Given the description of an element on the screen output the (x, y) to click on. 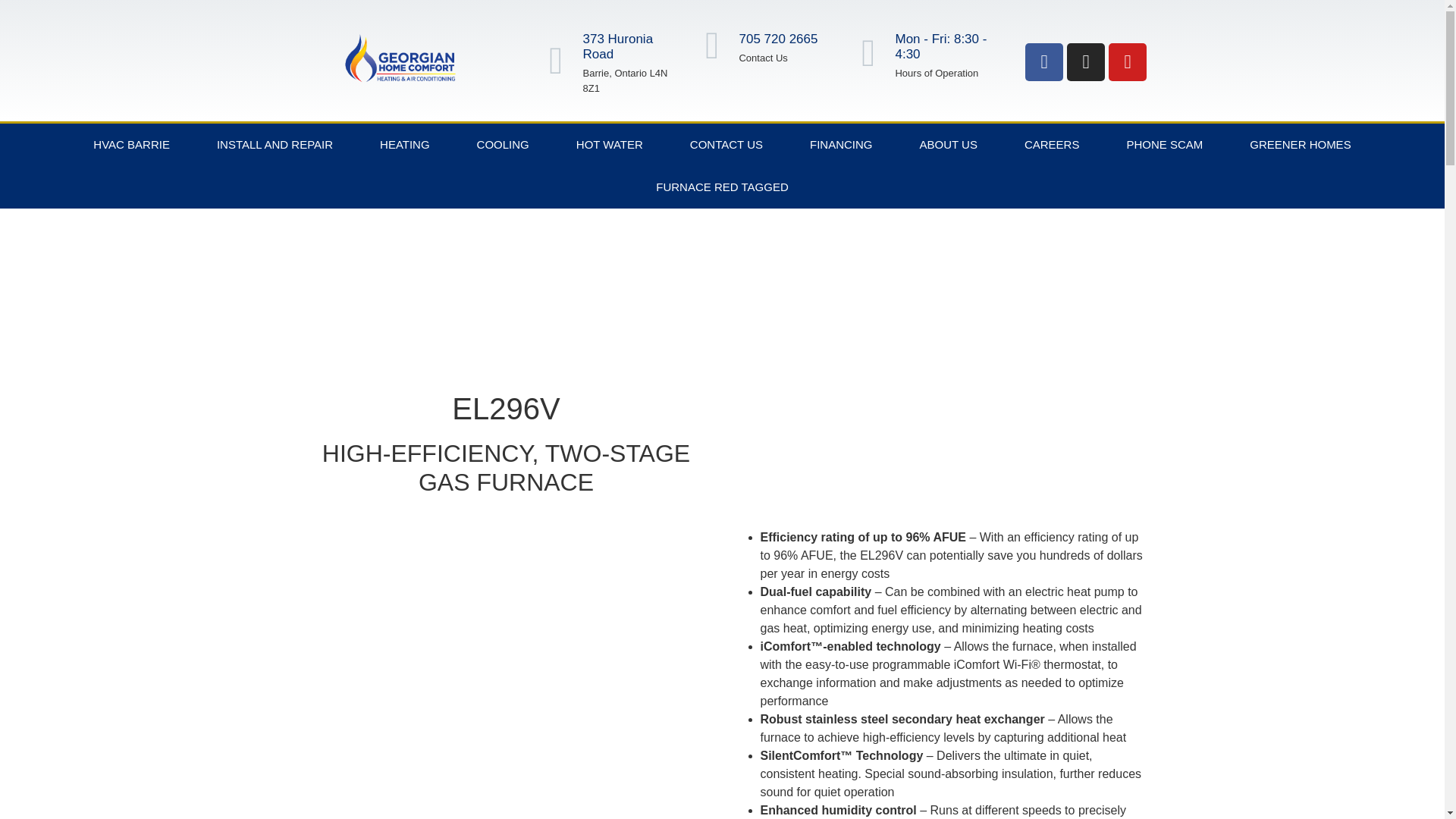
HOT WATER (609, 144)
FINANCING (841, 144)
GREENER HOMES (1299, 144)
INSTALL AND REPAIR (274, 144)
HEATING (404, 144)
CAREERS (1052, 144)
PHONE SCAM (1163, 144)
705 720 2665 (777, 38)
FURNACE RED TAGGED (720, 187)
COOLING (502, 144)
